Given the description of an element on the screen output the (x, y) to click on. 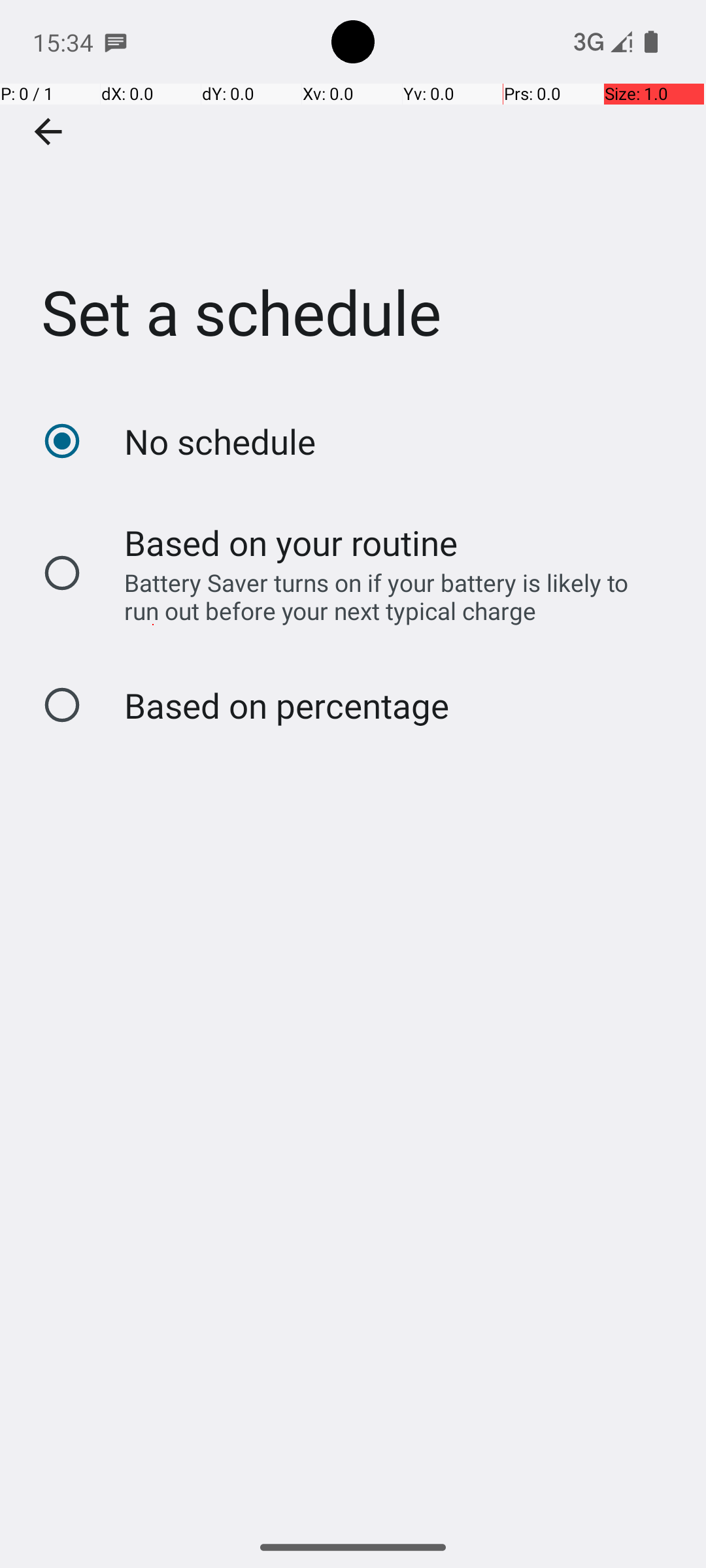
Set a schedule Element type: android.widget.FrameLayout (353, 195)
No schedule Element type: android.widget.TextView (219, 441)
Based on your routine Element type: android.widget.TextView (291, 542)
Battery Saver turns on if your battery is likely to run out before your next typical charge Element type: android.widget.TextView (387, 596)
Based on percentage Element type: android.widget.TextView (286, 705)
